Given the description of an element on the screen output the (x, y) to click on. 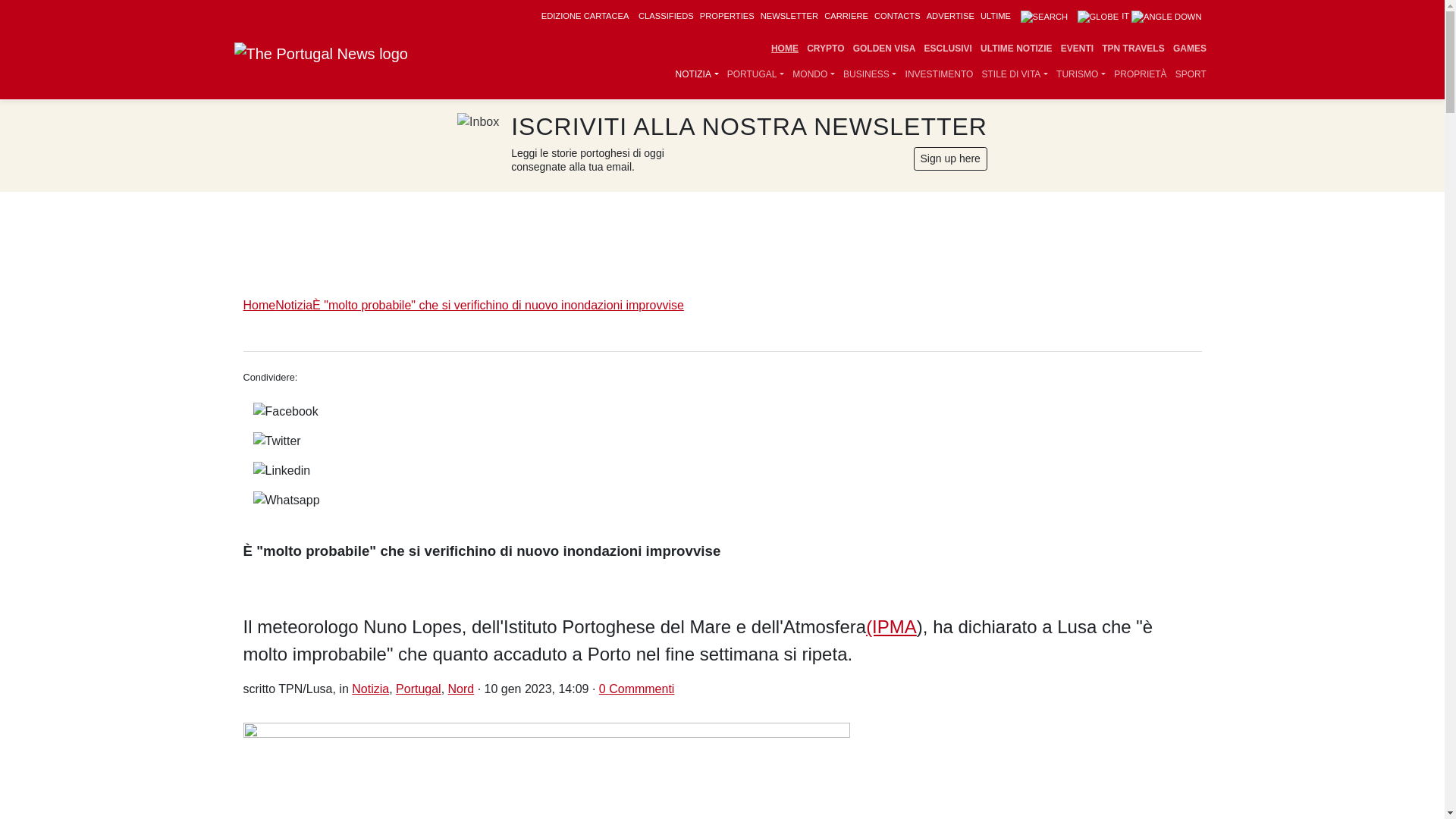
TPN TRAVELS (1133, 48)
CRYPTO (825, 48)
ESCLUSIVI (948, 48)
HOME (784, 48)
PORTUGAL (755, 73)
ADVERTISE (950, 15)
NEWSLETTER (789, 15)
ULTIME NOTIZIE (1016, 48)
EVENTI (1077, 48)
GAMES (1189, 48)
EDIZIONE CARTACEA (584, 15)
ULTIME (994, 15)
GOLDEN VISA (884, 48)
CLASSIFIEDS (666, 15)
CONTACTS (897, 15)
